Given the description of an element on the screen output the (x, y) to click on. 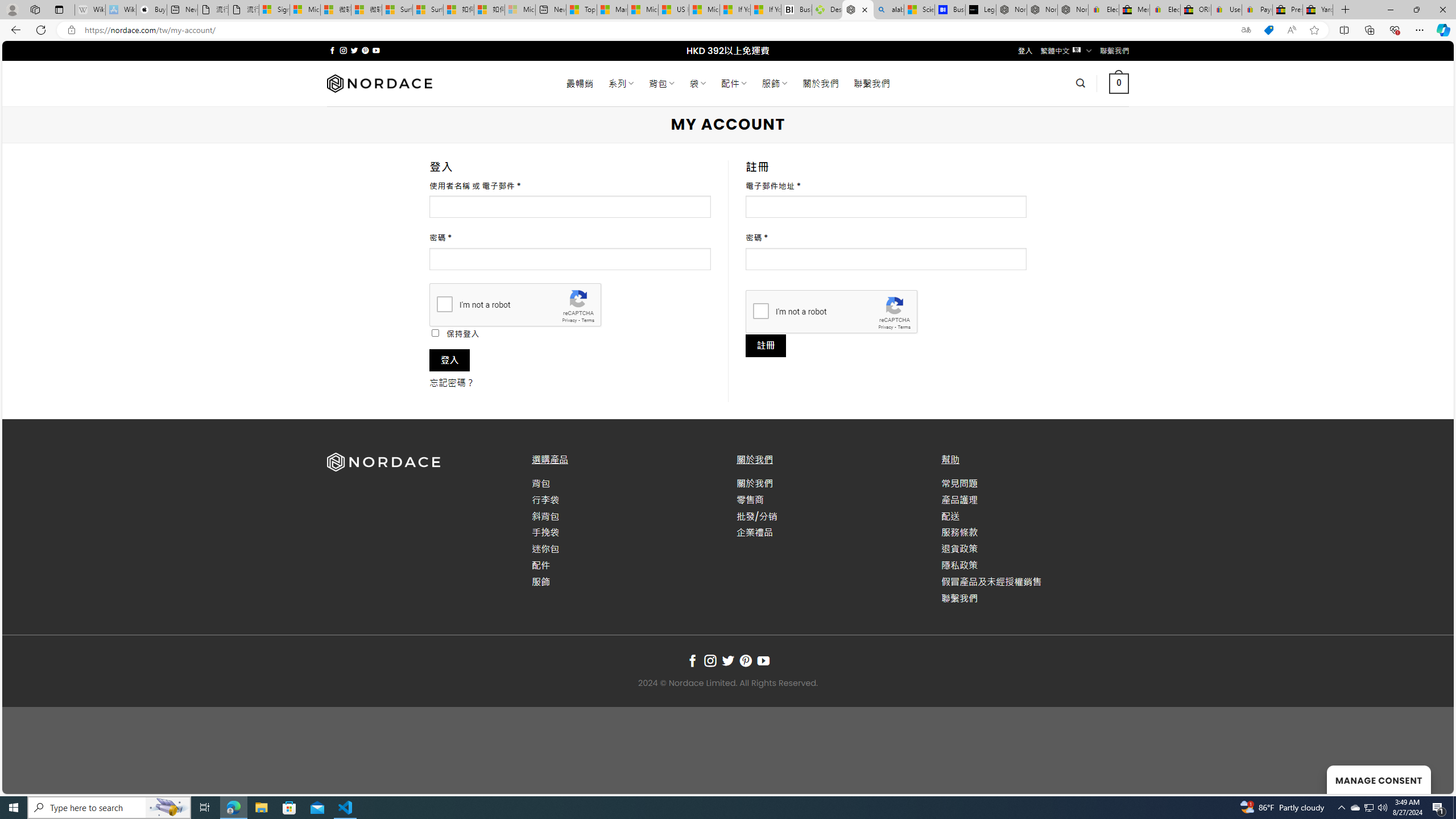
Nordace - My Account (857, 9)
Descarga Driver Updater (826, 9)
Follow on Twitter (727, 660)
  0   (1118, 83)
